Given the description of an element on the screen output the (x, y) to click on. 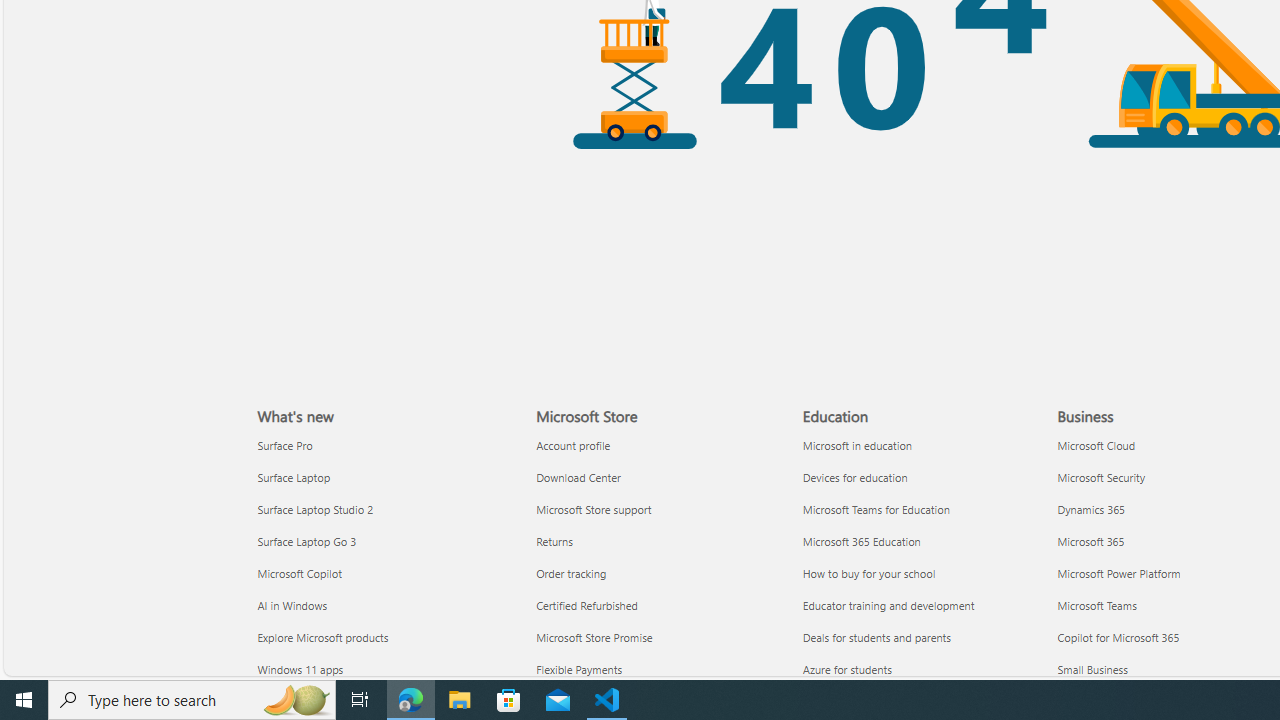
AI in Windows What's new (292, 604)
Surface Laptop What's new (294, 476)
How to buy for your school (923, 573)
Devices for education Education (854, 476)
Surface Pro What's new (285, 444)
Microsoft 365 Business (1091, 540)
Surface Pro (385, 445)
Microsoft Store Promise Microsoft Store (594, 637)
Deals for students and parents Education (877, 637)
Microsoft Security Business (1101, 476)
Download Center (657, 476)
